Given the description of an element on the screen output the (x, y) to click on. 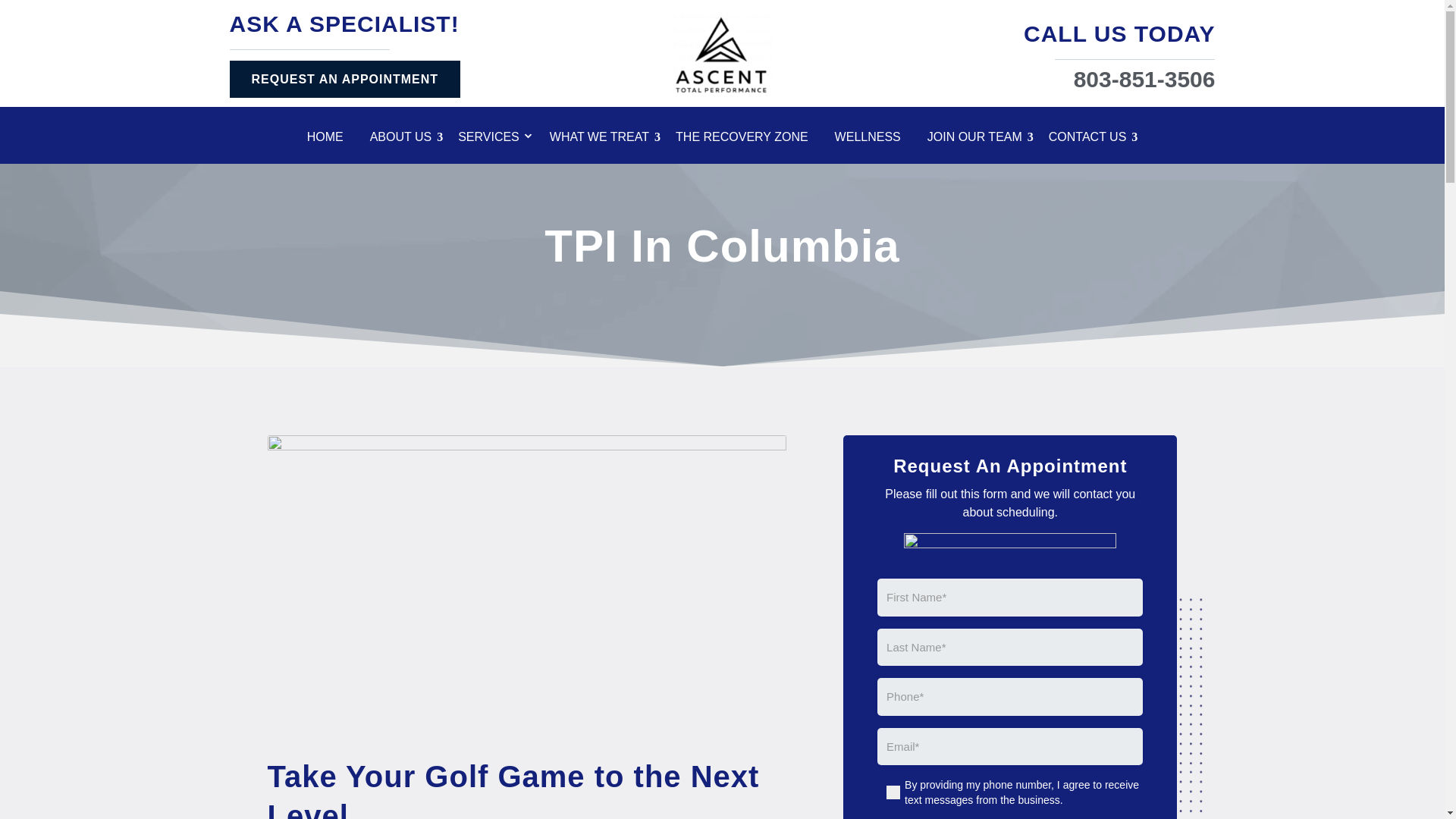
WHAT WE TREAT (605, 139)
WELLNESS (873, 139)
THE RECOVERY ZONE (747, 139)
SERVICES (496, 139)
REQUEST AN APPOINTMENT (344, 78)
ABOUT US (406, 139)
JOIN OUR TEAM (980, 139)
Ascent-Physical-Therapy-Black-Logo (721, 54)
HOME (331, 139)
